Given the description of an element on the screen output the (x, y) to click on. 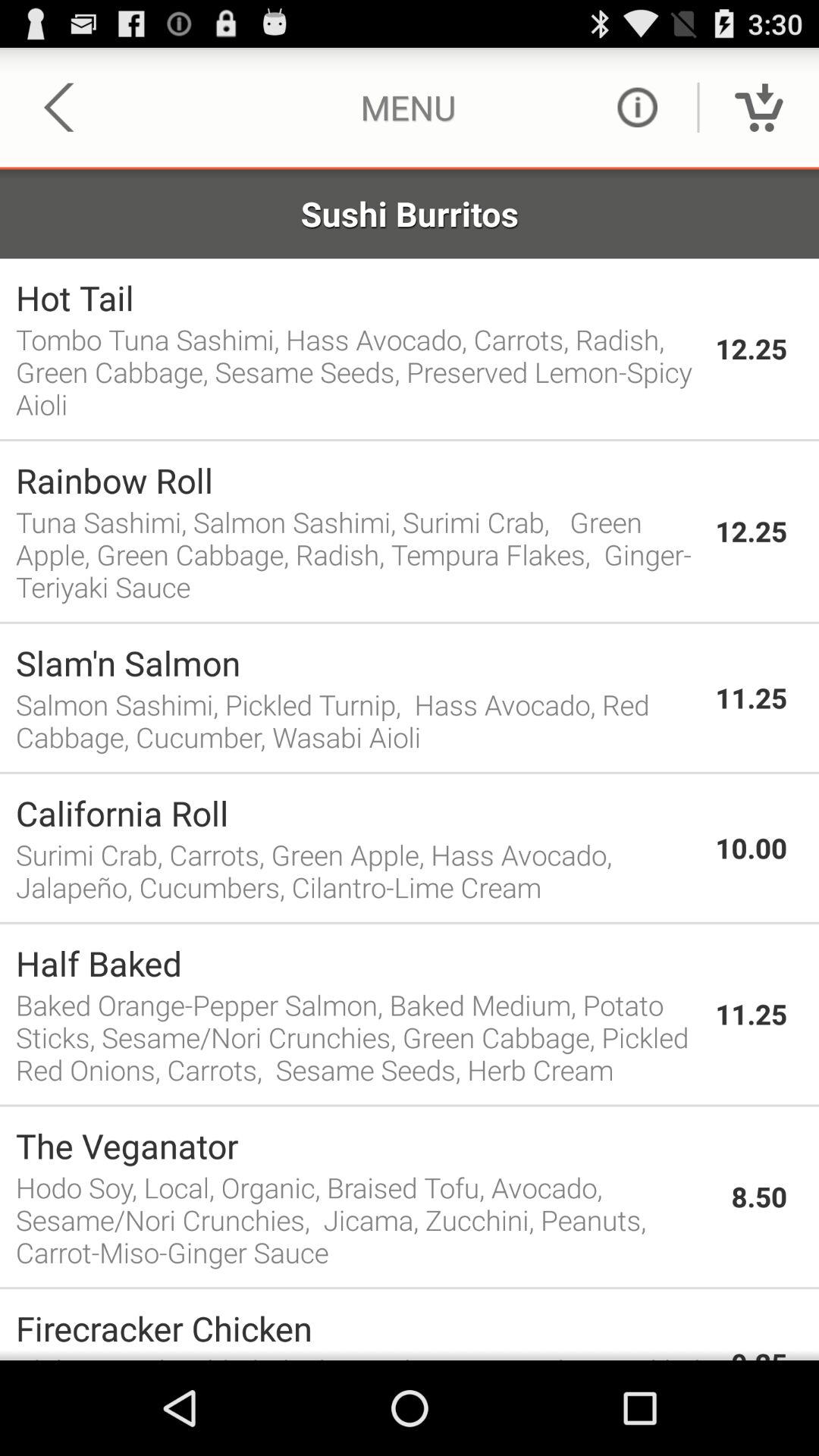
press the app next to the 12.25 (357, 297)
